Given the description of an element on the screen output the (x, y) to click on. 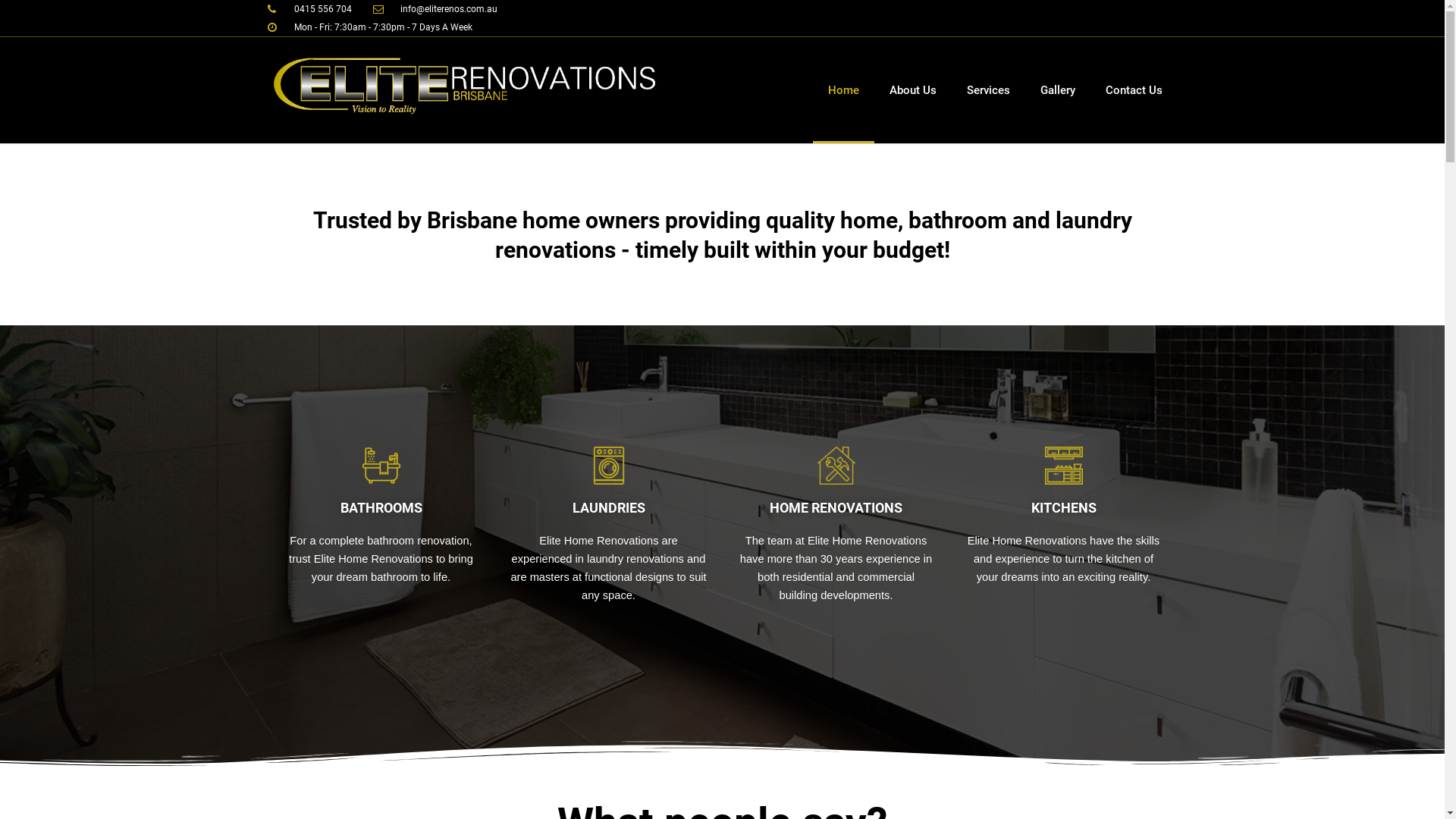
BATHROOMS Element type: text (380, 507)
service-icon-home-renovation Element type: hover (836, 465)
0415 556 704 Element type: text (308, 9)
Gallery Element type: text (1057, 90)
service-icon-kitchen Element type: hover (1063, 465)
service-icon-laundries Element type: hover (608, 465)
info@eliterenos.com.au Element type: text (435, 9)
HOME RENOVATIONS Element type: text (835, 507)
logo-l Element type: hover (464, 85)
Contact Us Element type: text (1133, 90)
Home Element type: text (843, 90)
About Us Element type: text (911, 90)
KITCHENS Element type: text (1063, 507)
Services Element type: text (987, 90)
LAUNDRIES Element type: text (607, 507)
service-icon-bathroom Element type: hover (381, 465)
